Given the description of an element on the screen output the (x, y) to click on. 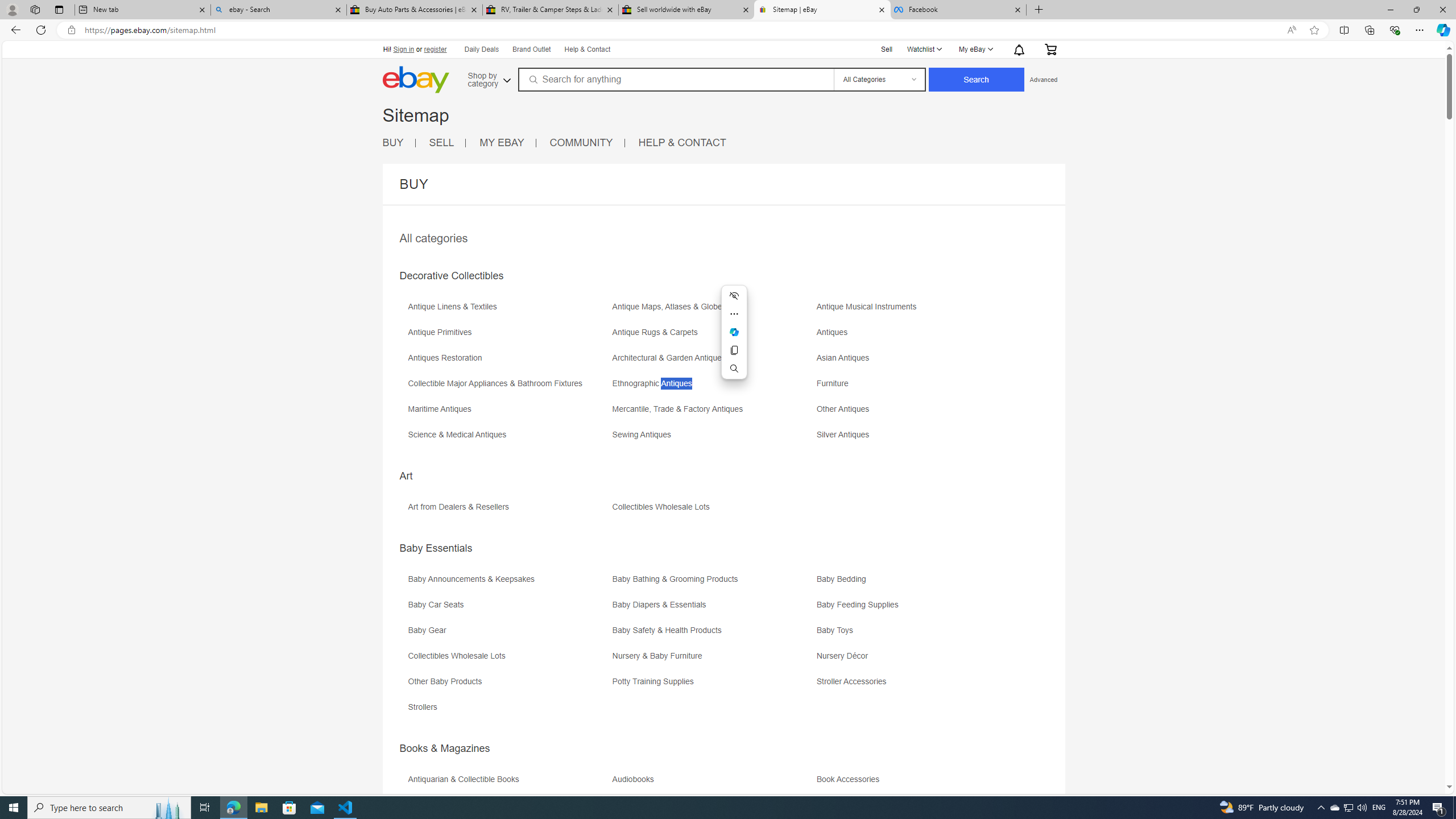
Antique Maps, Atlases & Globes (671, 306)
Sell (886, 48)
Sell (887, 49)
Science & Medical Antiques (459, 434)
Book Accessories (917, 783)
Architectural & Garden Antiques (670, 357)
Potty Training Supplies (654, 681)
Nursery & Baby Furniture (712, 659)
Asian Antiques (845, 357)
Antique Primitives (442, 332)
Baby Toys (837, 630)
BUY (392, 142)
Potty Training Supplies (712, 685)
eBay Logo (453, 96)
